Given the description of an element on the screen output the (x, y) to click on. 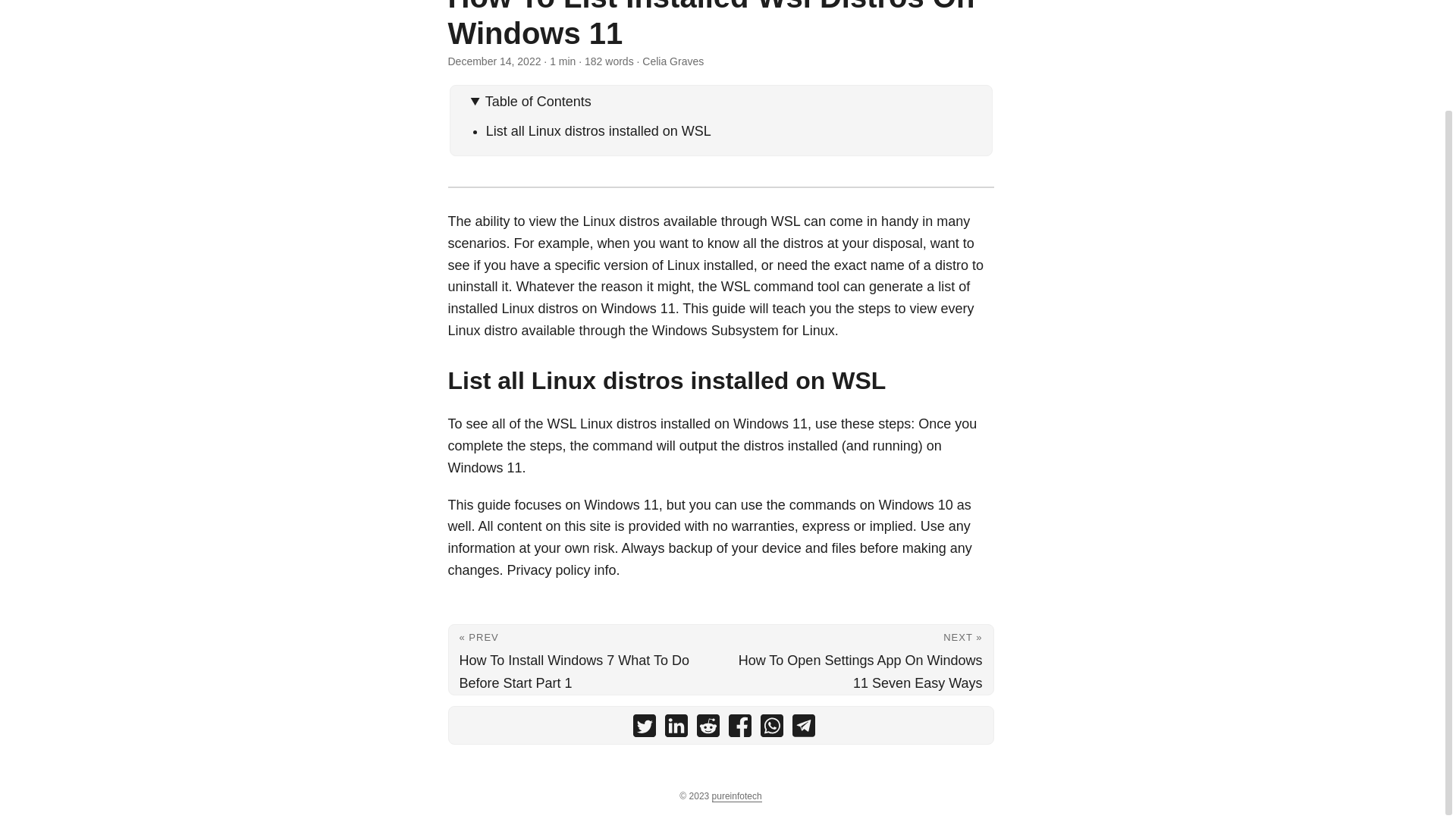
List all Linux distros installed on WSL (598, 130)
pureinfotech (736, 795)
